Given the description of an element on the screen output the (x, y) to click on. 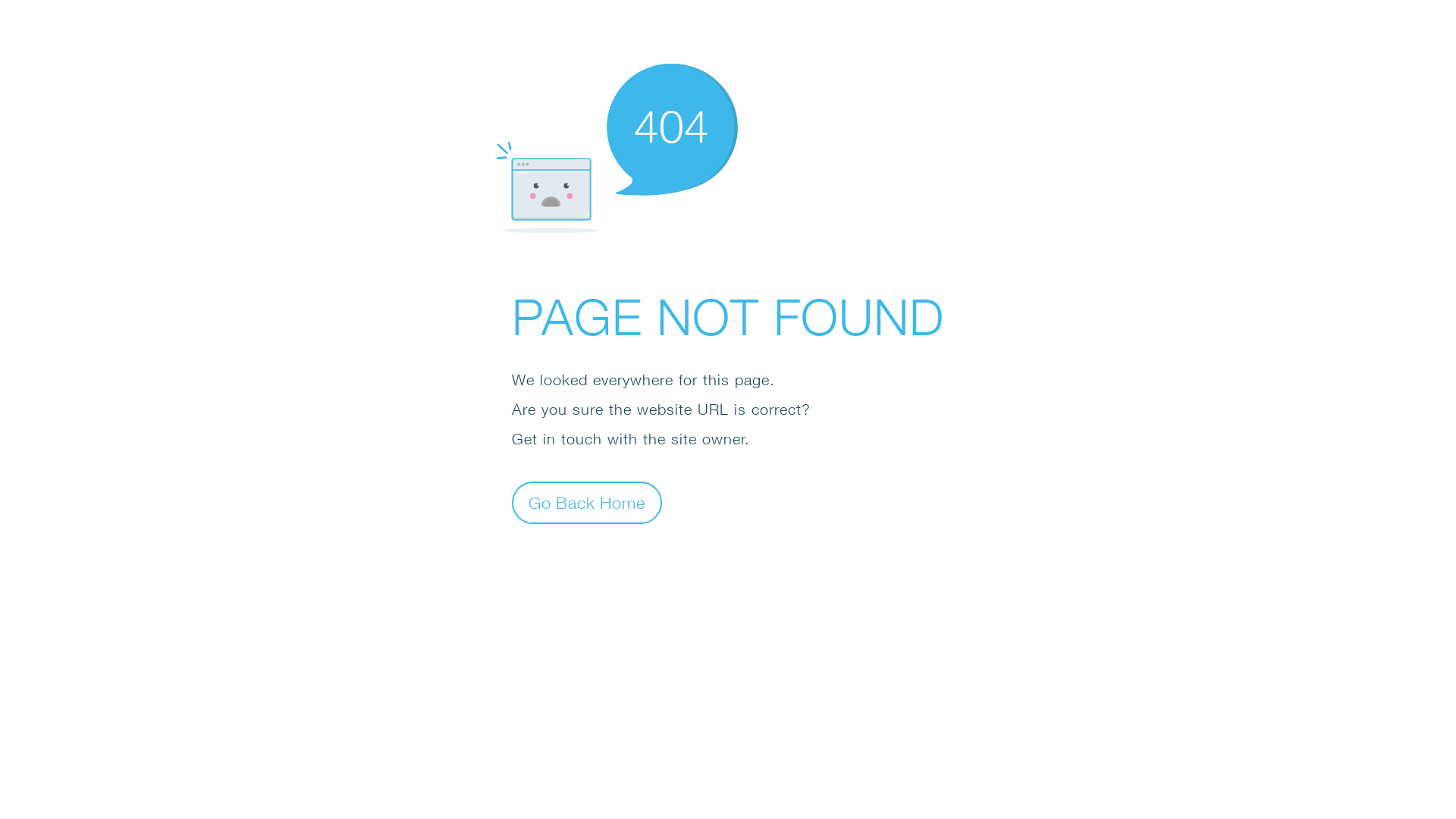
Go Back Home Element type: text (586, 502)
